Given the description of an element on the screen output the (x, y) to click on. 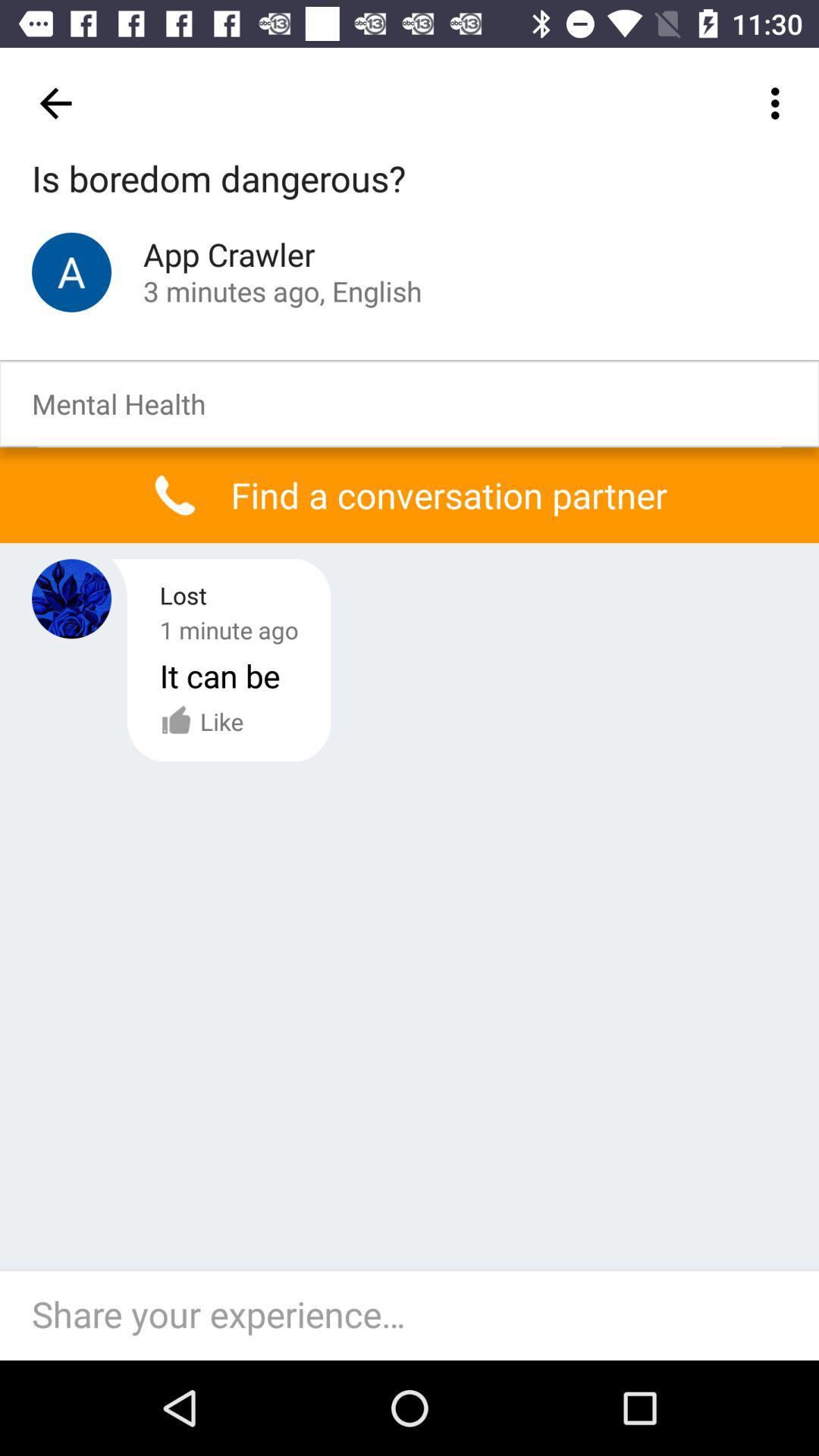
turn off the item next to the is boredom dangerous? (779, 103)
